Given the description of an element on the screen output the (x, y) to click on. 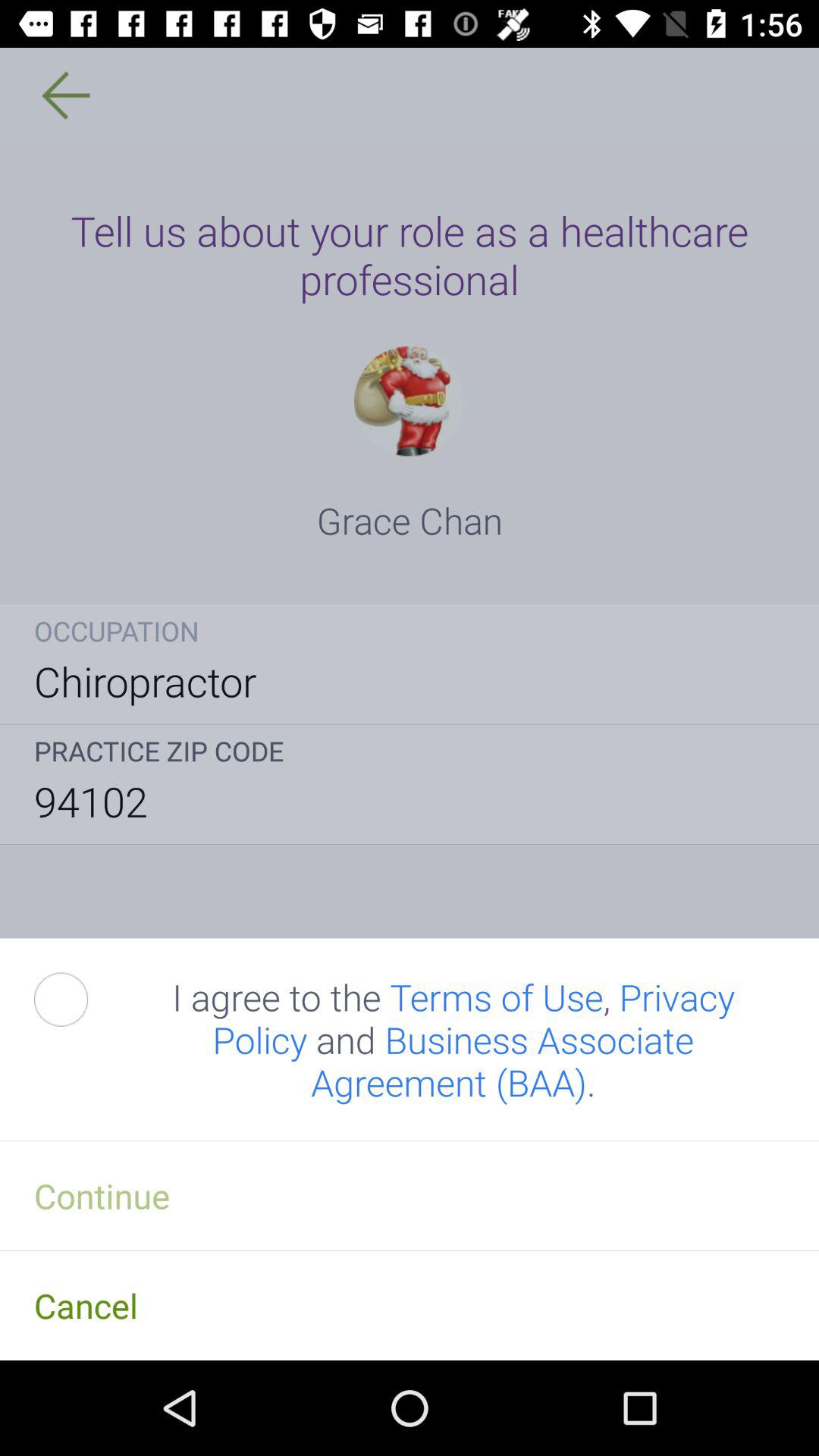
press icon below the i agree to (409, 1195)
